Given the description of an element on the screen output the (x, y) to click on. 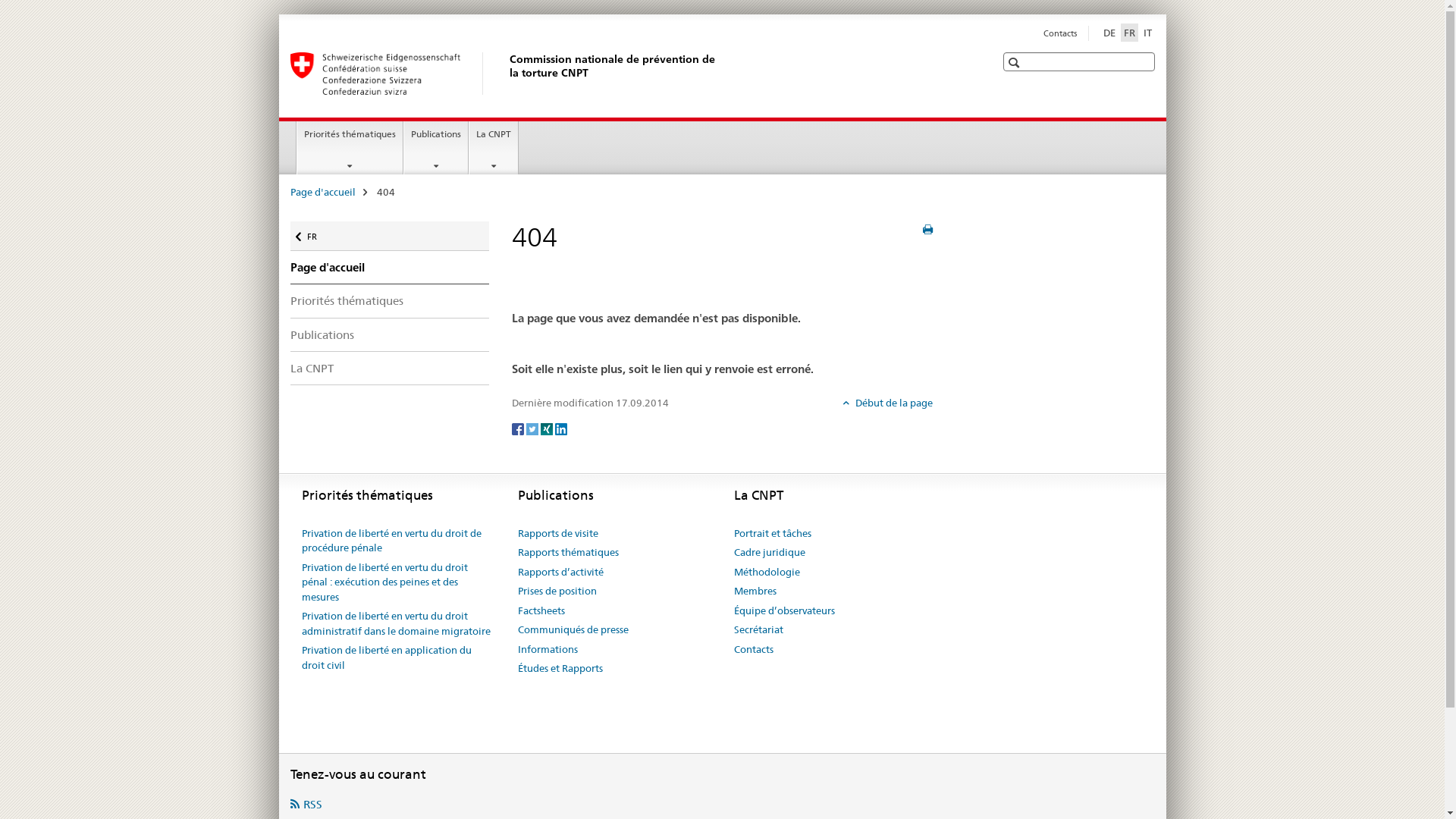
Page d'accueil Element type: text (321, 191)
Rapports de visite Element type: text (557, 533)
IT Element type: text (1147, 32)
La CNPT Element type: text (389, 367)
Factsheets Element type: text (540, 611)
Membres Element type: text (755, 591)
RSS Element type: text (305, 804)
Contacts Element type: text (1059, 33)
Publications Element type: text (389, 334)
Prises de position Element type: text (556, 591)
Retour
FR Element type: text (389, 236)
Publications Element type: text (435, 147)
Contacts Element type: text (753, 649)
FR Element type: text (1129, 32)
Page d'accueil Element type: text (389, 267)
Informations Element type: text (547, 649)
DE Element type: text (1108, 32)
La CNPT Element type: text (493, 147)
Imprimer cette page Element type: hover (927, 229)
Cadre juridique Element type: text (769, 552)
